Given the description of an element on the screen output the (x, y) to click on. 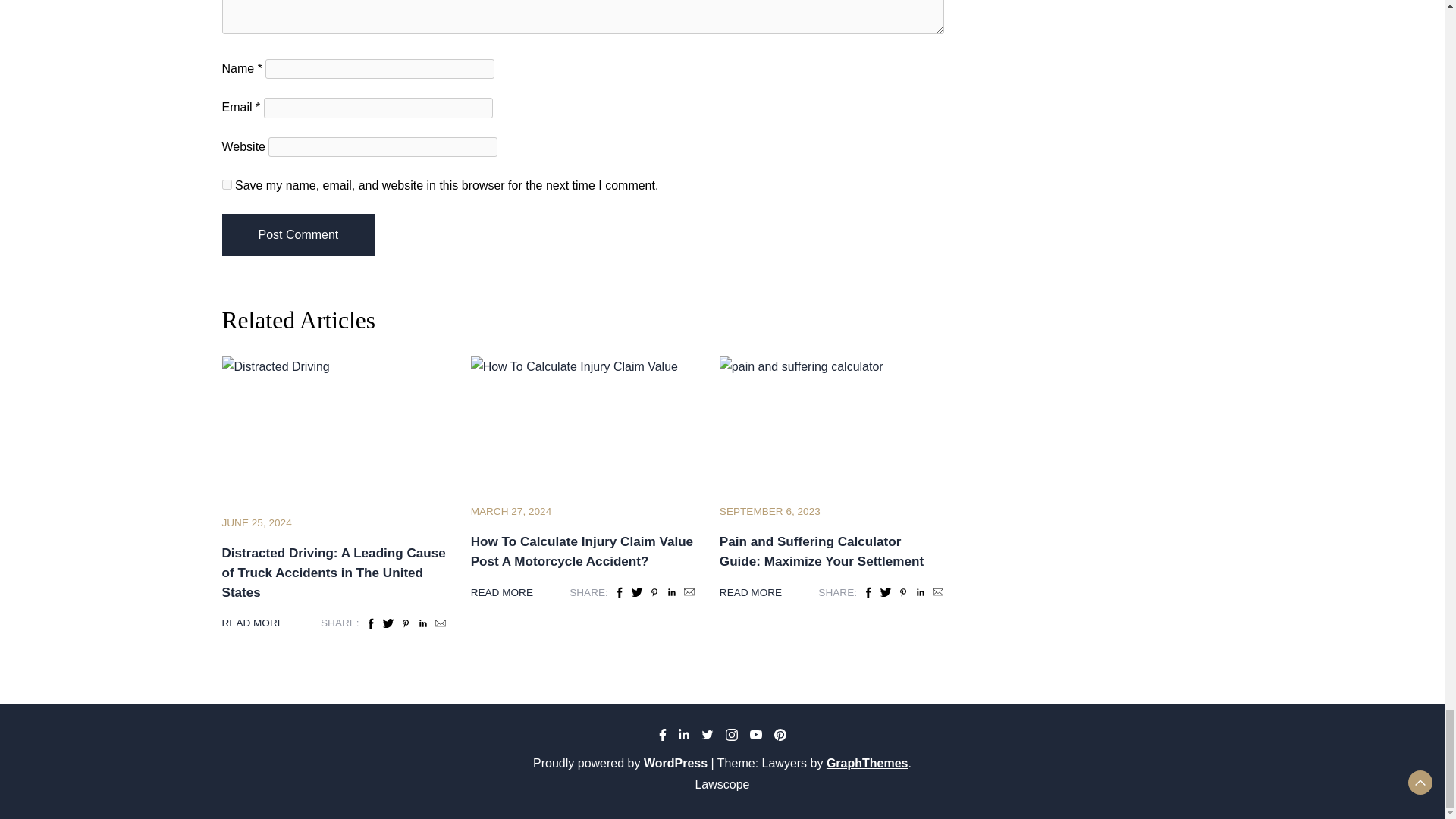
yes (226, 184)
Post Comment (297, 234)
